Given the description of an element on the screen output the (x, y) to click on. 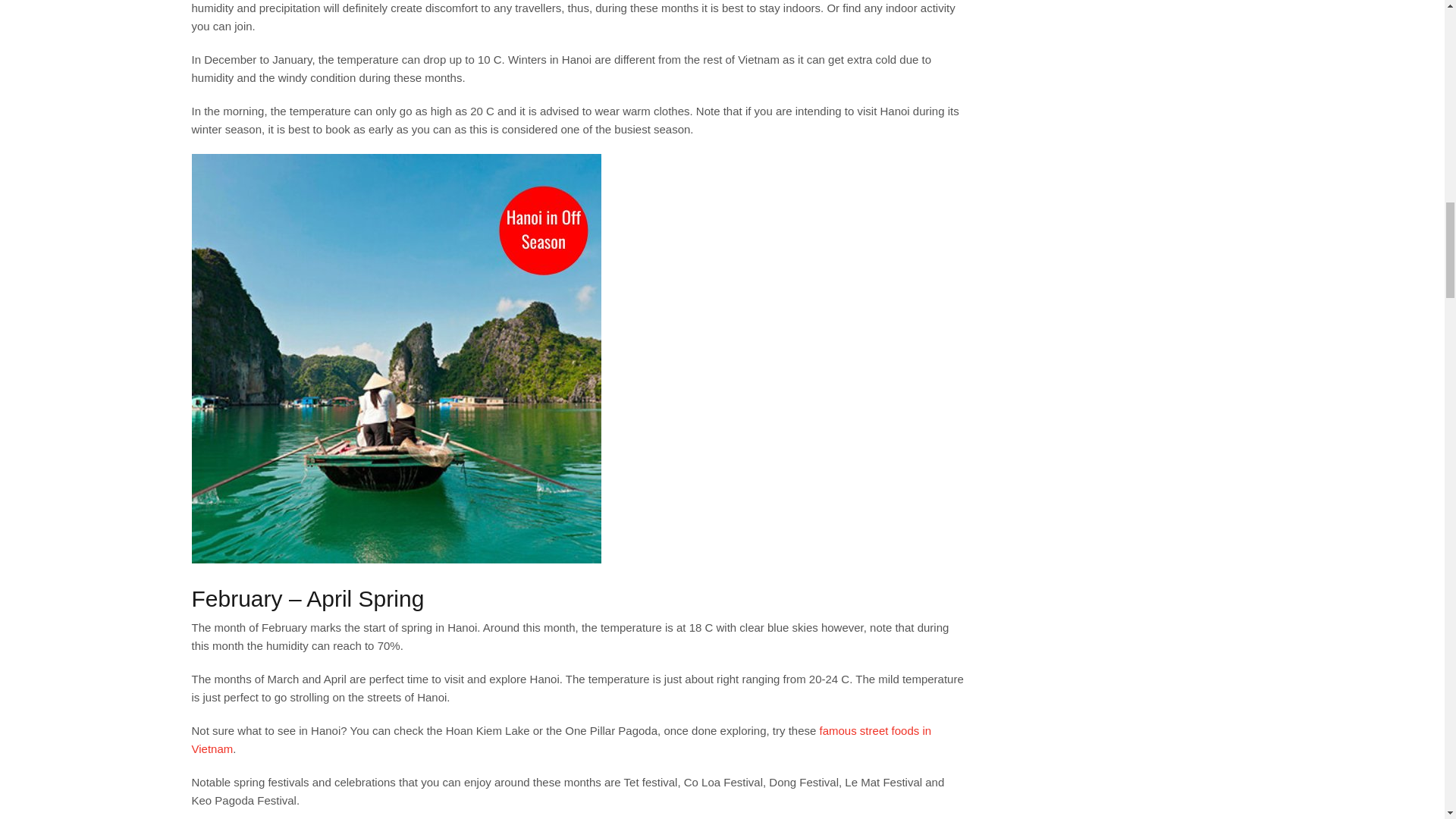
famous street foods in Vietnam (560, 739)
